Given the description of an element on the screen output the (x, y) to click on. 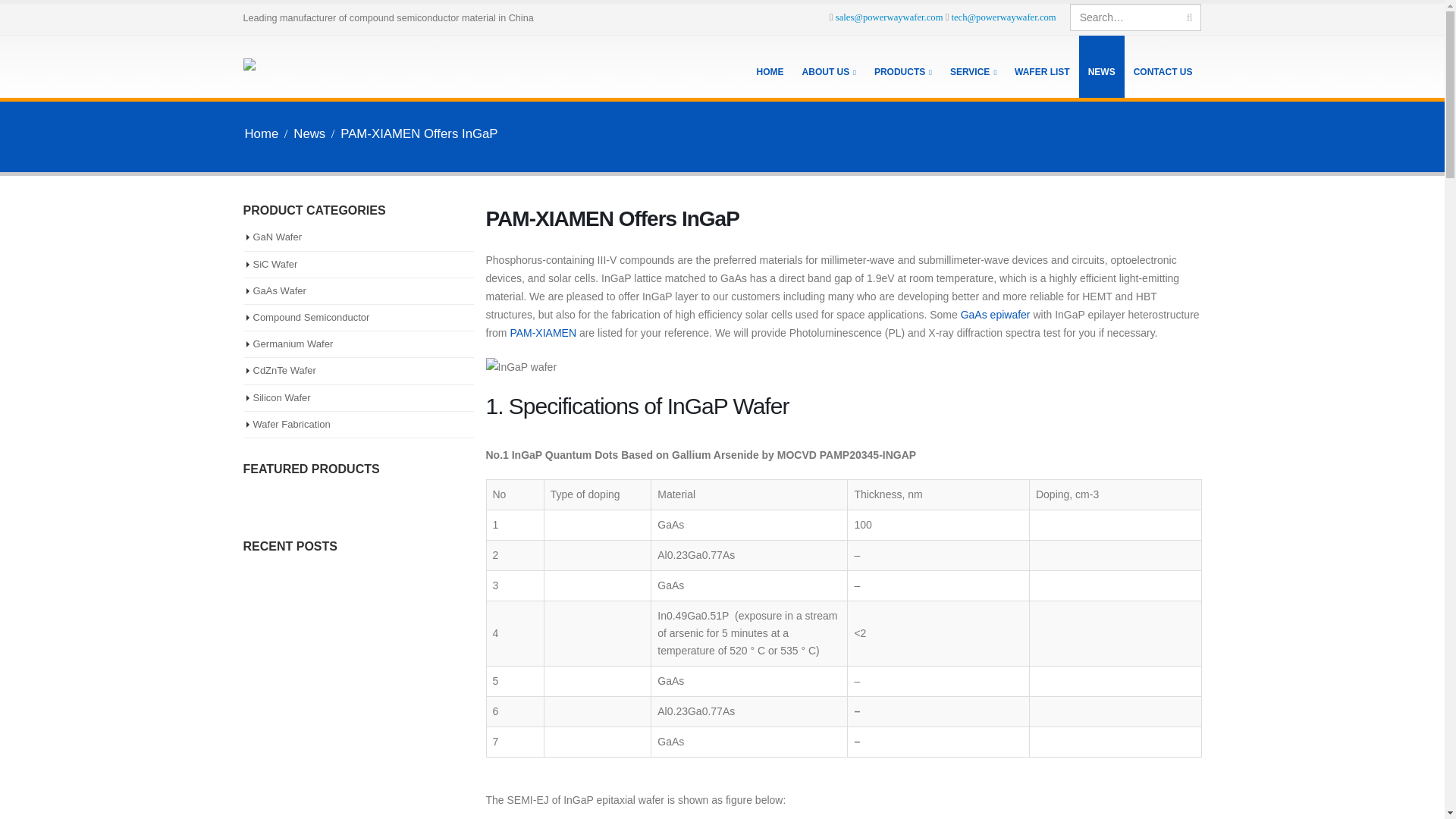
PRODUCTS (902, 66)
XIAMEN POWERWAY -  (302, 66)
ABOUT US (828, 66)
Search (1189, 17)
